Given the description of an element on the screen output the (x, y) to click on. 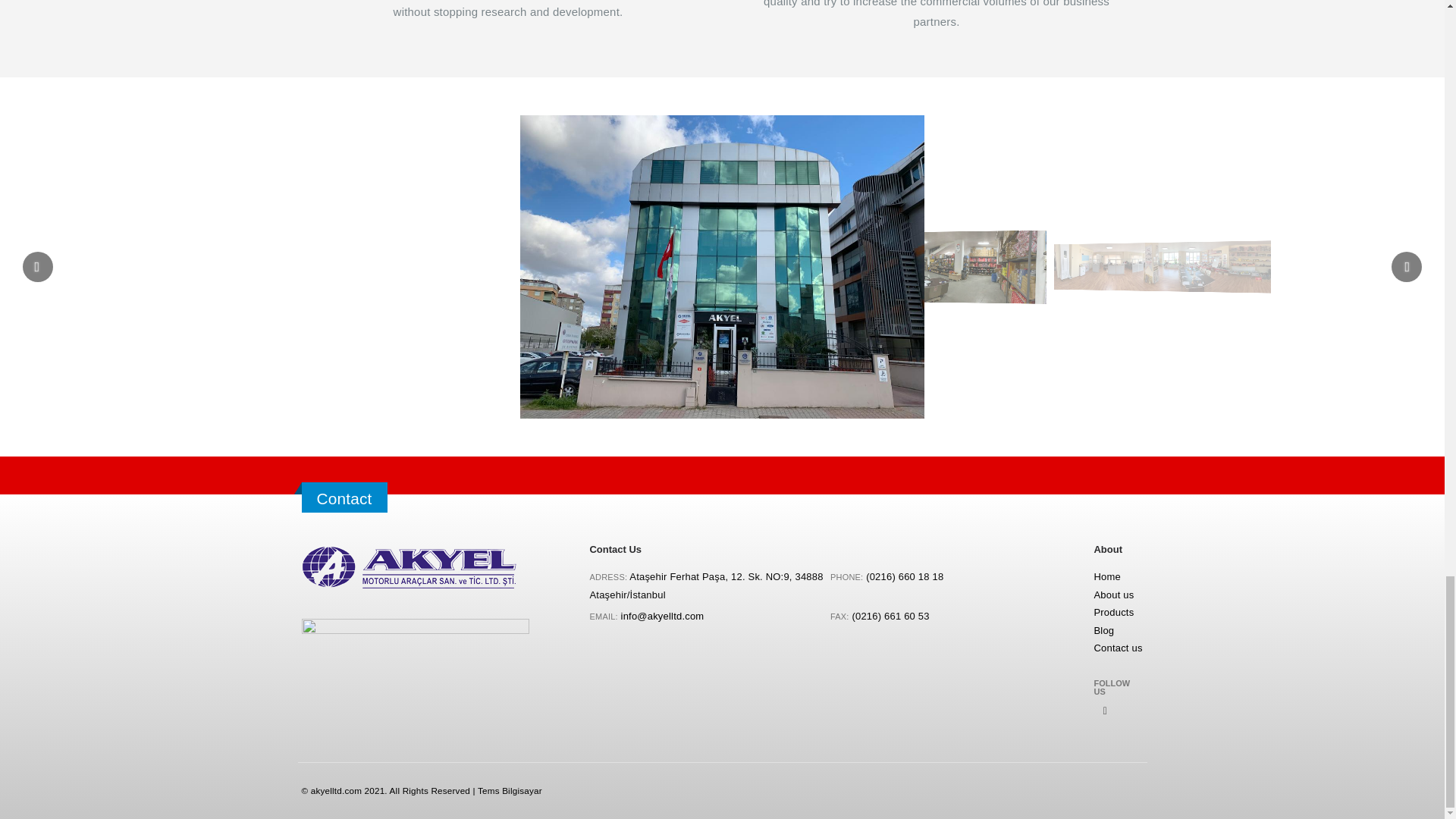
Products (1113, 612)
About us (1113, 594)
Blog (1103, 630)
Facebook (1104, 710)
Home (1106, 576)
Contact us (1117, 647)
